Given the description of an element on the screen output the (x, y) to click on. 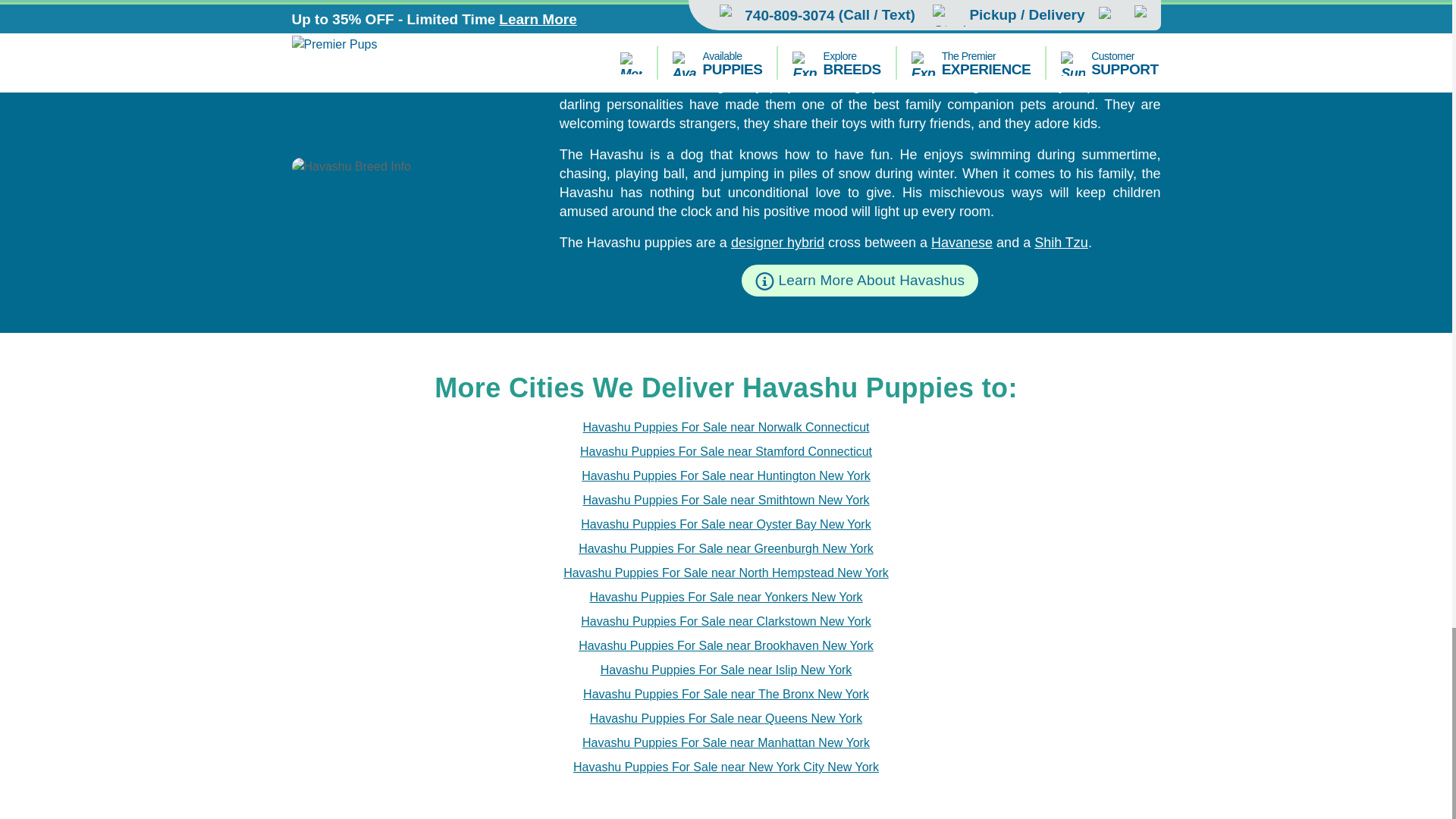
Havashu Puppies For Sale near Brookhaven New York (725, 646)
Havashu Puppies For Sale near Stamford Connecticut (725, 452)
Havashu Puppies For Sale near Clarkstown New York (725, 621)
Havashu Puppies For Sale near North Hempstead New York (725, 573)
Havashu Puppies For Sale near Oyster Bay New York (725, 524)
Havashu Puppies For Sale near Yonkers New York (725, 597)
Shih Tzu (1060, 242)
Learn More About Havashus (859, 280)
Havashu Puppies For Sale near Huntington New York (725, 475)
Havanese (961, 242)
Havashu Puppies For Sale near Greenburgh New York (725, 548)
designer hybrid (777, 242)
Havashu Breed Info (412, 167)
Havashu Puppies For Sale near Smithtown New York (725, 500)
Havashu Puppies For Sale near Norwalk Connecticut (726, 427)
